Given the description of an element on the screen output the (x, y) to click on. 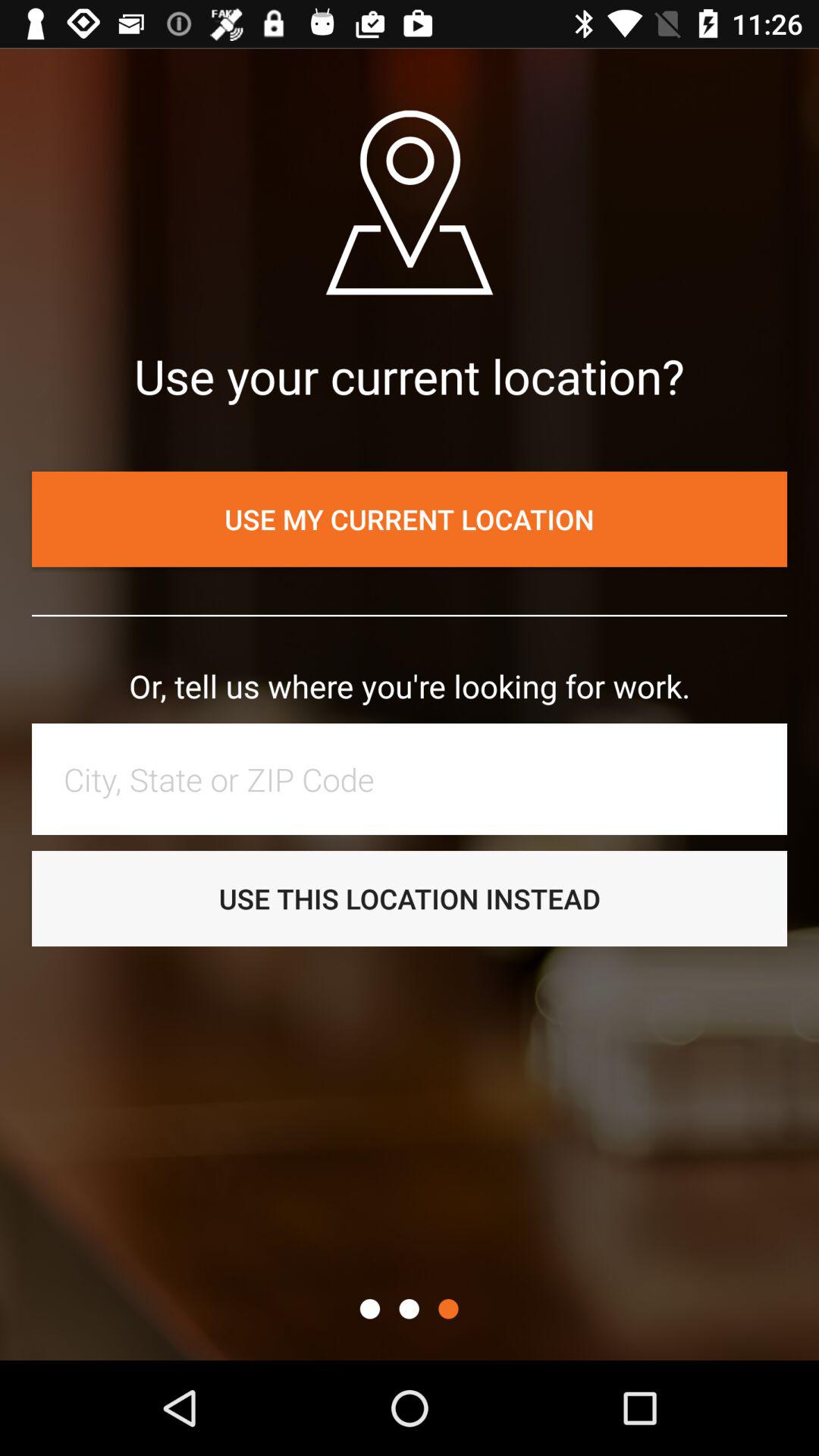
press the icon below or tell us item (417, 778)
